Given the description of an element on the screen output the (x, y) to click on. 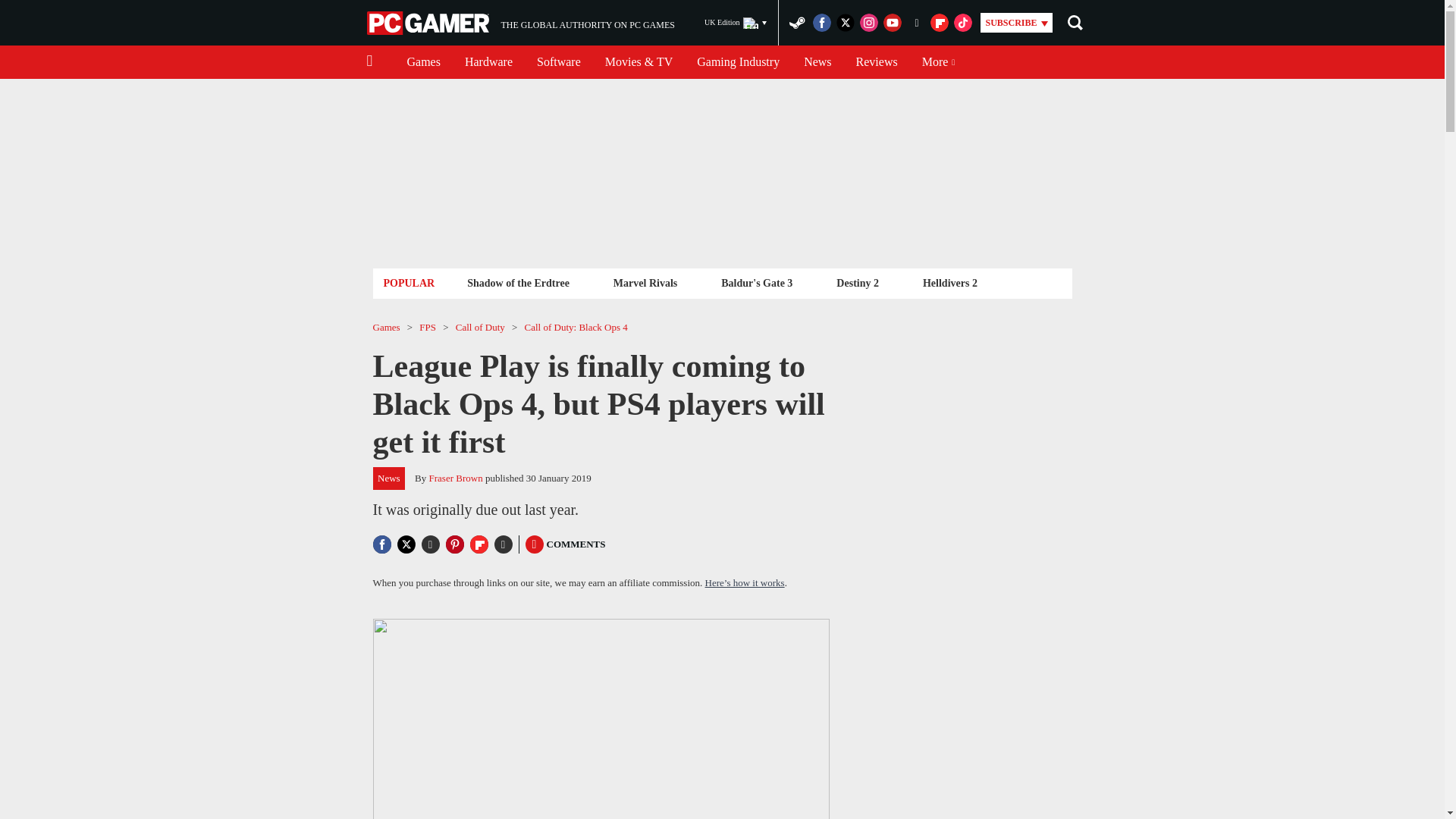
Games (422, 61)
Gaming Industry (520, 22)
Hardware (738, 61)
Shadow of the Erdtree (488, 61)
UK Edition (518, 282)
Reviews (735, 22)
News (877, 61)
Marvel Rivals (817, 61)
Software (645, 282)
PC Gamer (558, 61)
